Given the description of an element on the screen output the (x, y) to click on. 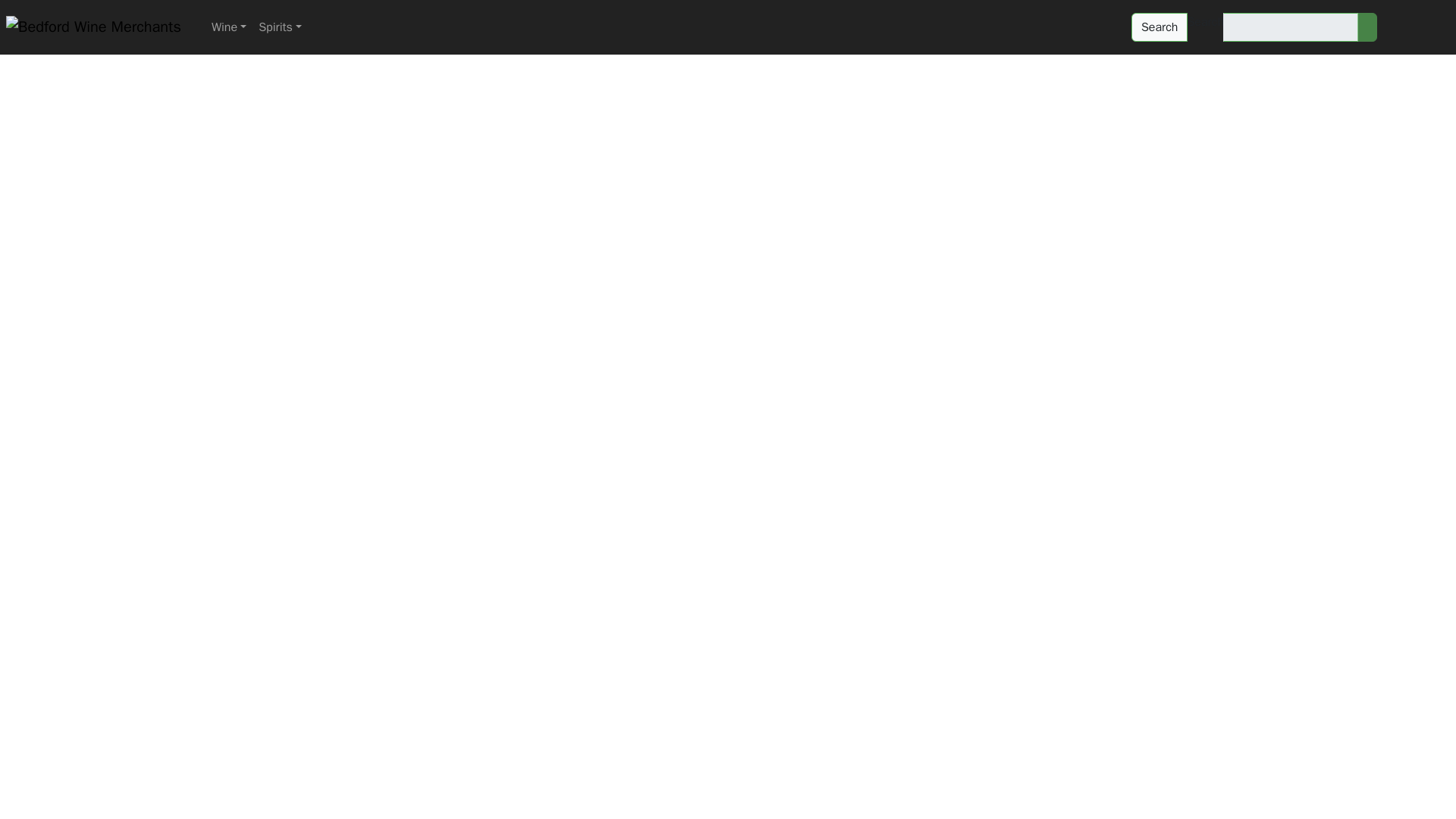
Wine (228, 27)
